Given the description of an element on the screen output the (x, y) to click on. 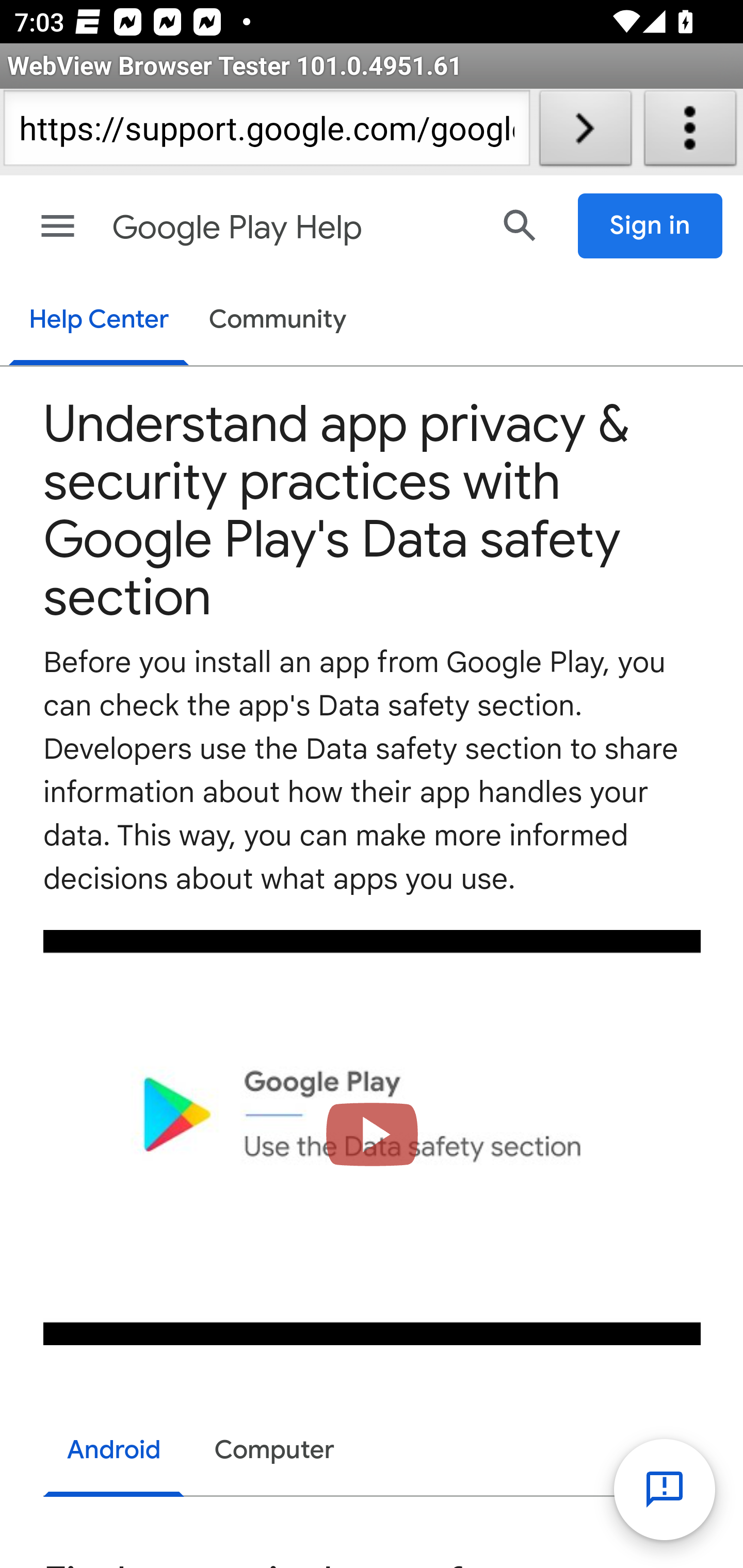
Load URL (585, 132)
About WebView (690, 132)
Main menu (58, 226)
Google Play Help (292, 227)
Search Help Center (519, 225)
Sign in (650, 226)
Help Center (98, 320)
Community (277, 320)
Load video (372, 1137)
Load video (372, 1137)
Android (114, 1452)
Computer (273, 1450)
